Given the description of an element on the screen output the (x, y) to click on. 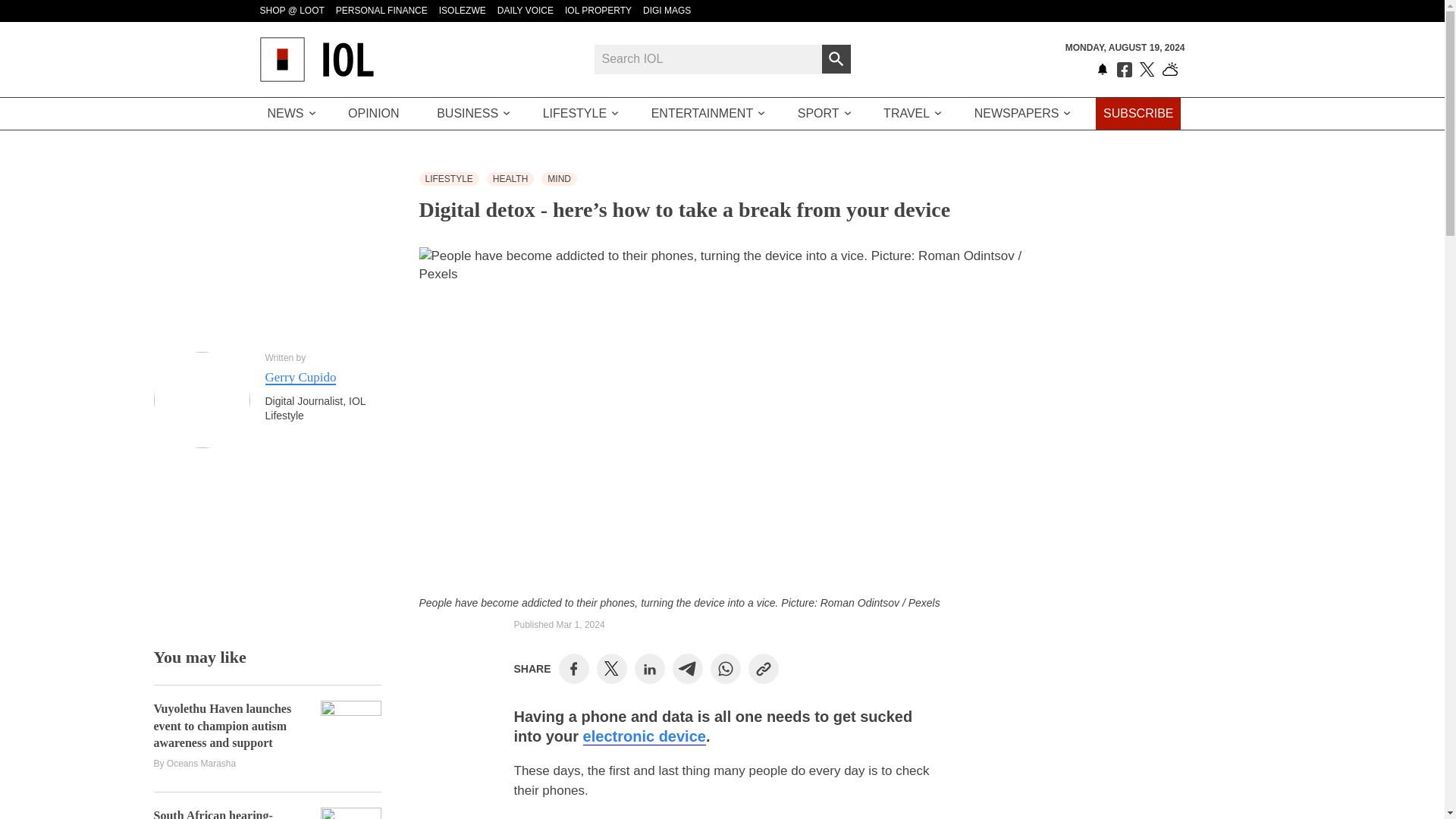
Like us on Facebook (1124, 69)
Share on Telegram (686, 668)
Share on Facebook (573, 668)
Share on WhatsApp (725, 668)
Share on Twitter (611, 668)
Follow us on Twitter (1147, 69)
Share on LinkedIn (648, 668)
Copy to Clipboard (763, 668)
